Given the description of an element on the screen output the (x, y) to click on. 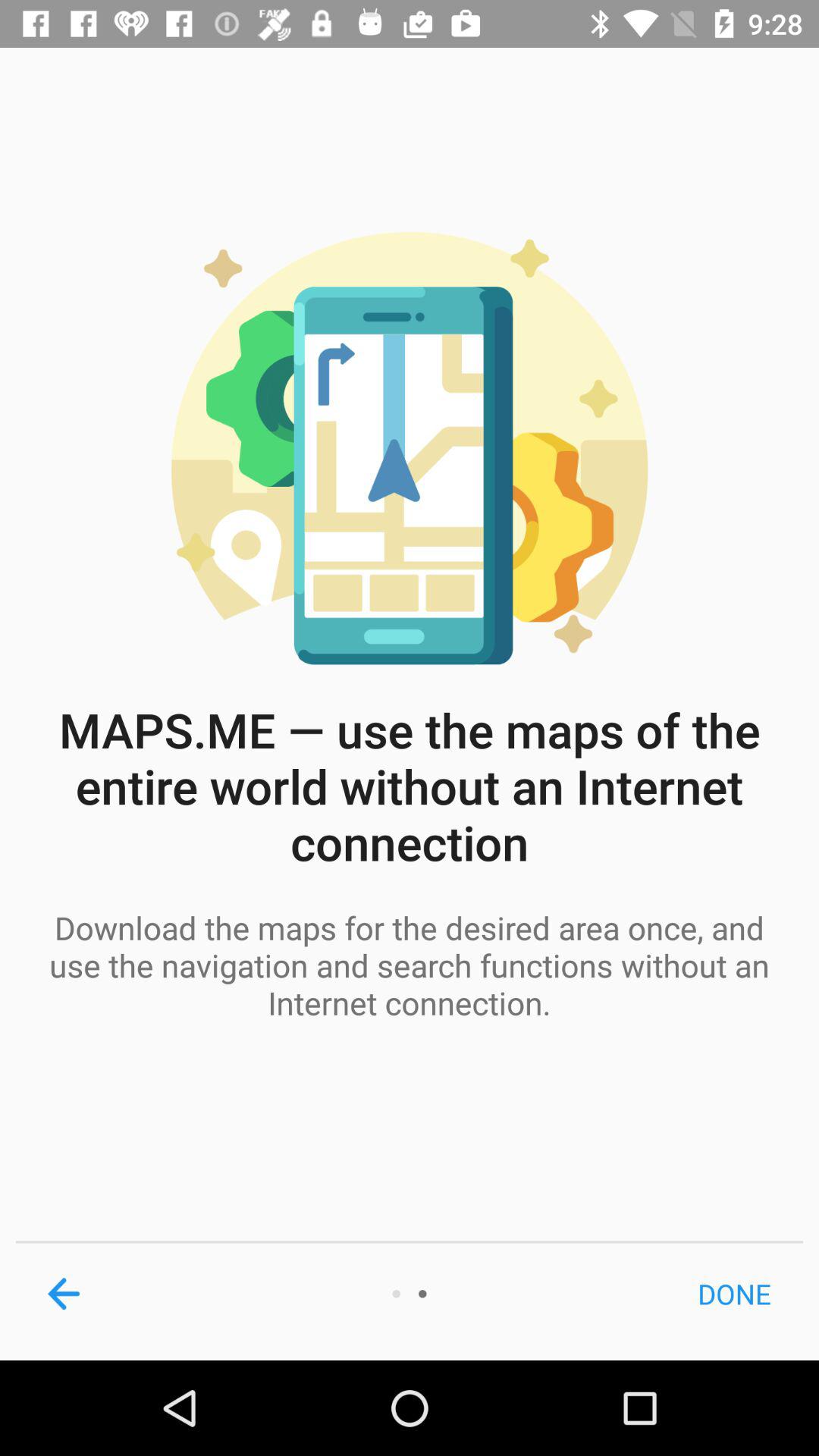
flip to the done (734, 1293)
